Given the description of an element on the screen output the (x, y) to click on. 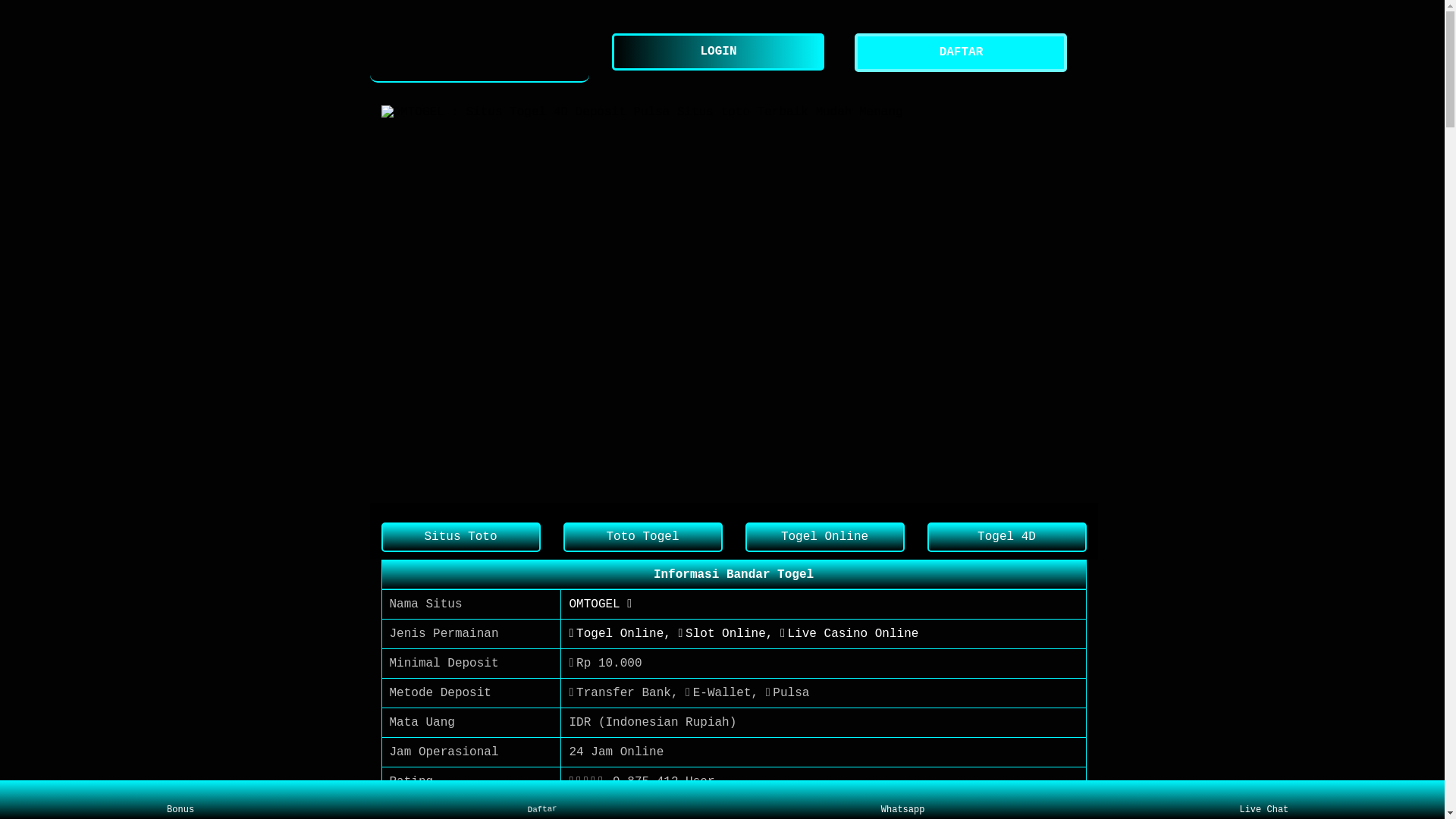
Situs Toto Element type: text (459, 537)
DAFTAR Element type: text (964, 52)
Whatsapp Element type: text (902, 799)
Togel Online Element type: text (823, 537)
Togel 4D Element type: text (1005, 537)
Toto Togel Element type: text (641, 537)
Previous item in carousel (1 of 1) Element type: hover (392, 303)
LOGIN Element type: text (721, 51)
Bonus Element type: text (180, 799)
Live Chat Element type: text (1263, 799)
OMTOGEL Element type: hover (479, 52)
Next item in carousel (1 of 1) Element type: hover (1073, 303)
Daftar Element type: text (537, 796)
KLIK DISINI Element type: text (608, 811)
